Given the description of an element on the screen output the (x, y) to click on. 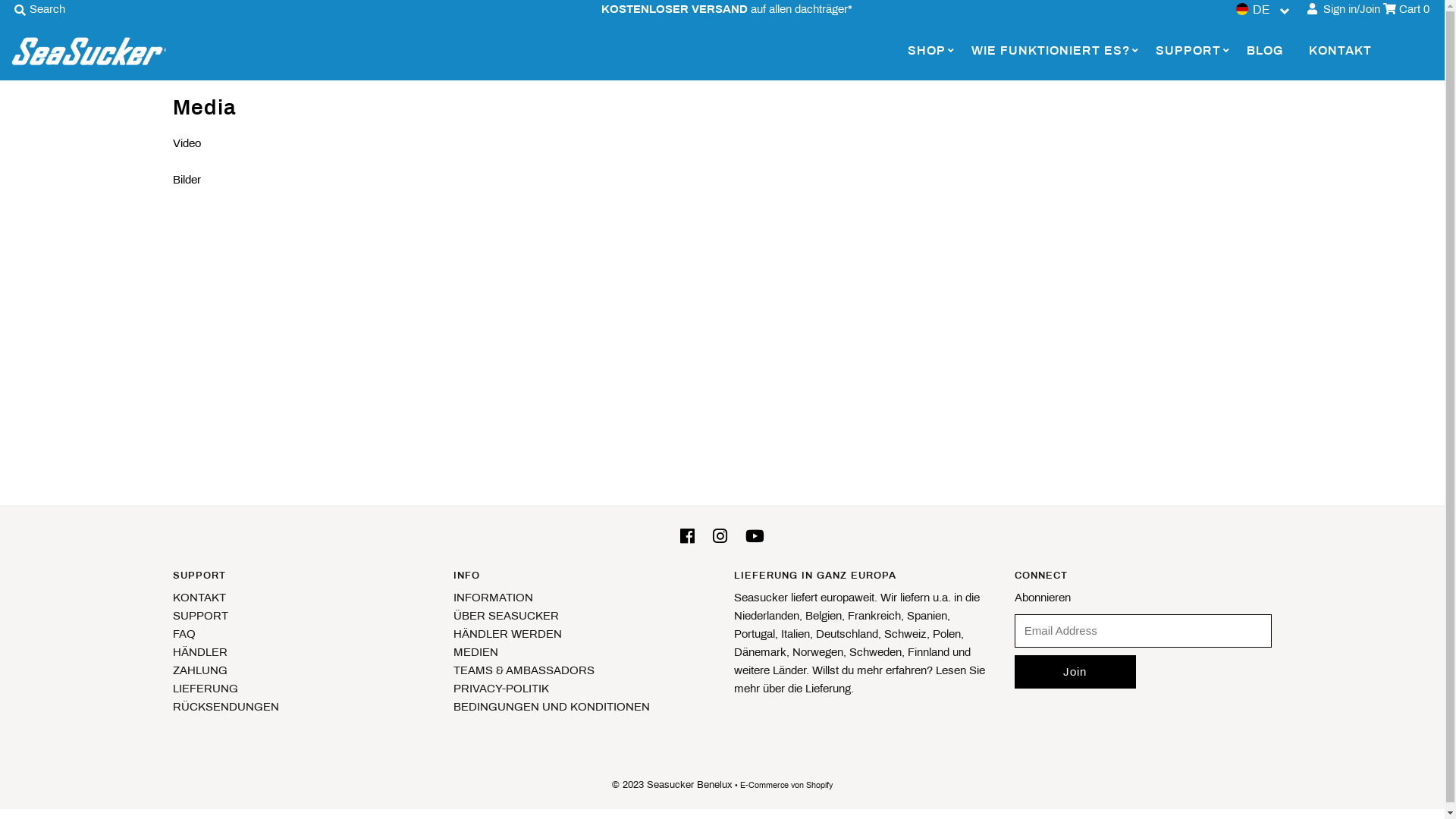
WIE FUNKTIONIERT ES? Element type: text (1050, 50)
BLOG Element type: text (1264, 50)
BEDINGUNGEN UND KONDITIONEN Element type: text (551, 706)
MEDIEN Element type: text (475, 652)
PRIVACY-POLITIK Element type: text (501, 688)
TEAMS & AMBASSADORS Element type: text (523, 670)
FAQ Element type: text (183, 633)
KONTAKT Element type: text (1340, 50)
INFORMATION Element type: text (493, 597)
SUPPORT Element type: text (200, 615)
LIEFERUNG Element type: text (205, 688)
Join Element type: text (1074, 671)
 Cart 0 Element type: text (1406, 9)
KONTAKT Element type: text (198, 597)
DE Element type: text (1262, 9)
SHOP Element type: text (926, 50)
ZAHLUNG Element type: text (199, 670)
  Sign in/Join Element type: text (1343, 9)
SUPPORT Element type: text (1188, 50)
